Given the description of an element on the screen output the (x, y) to click on. 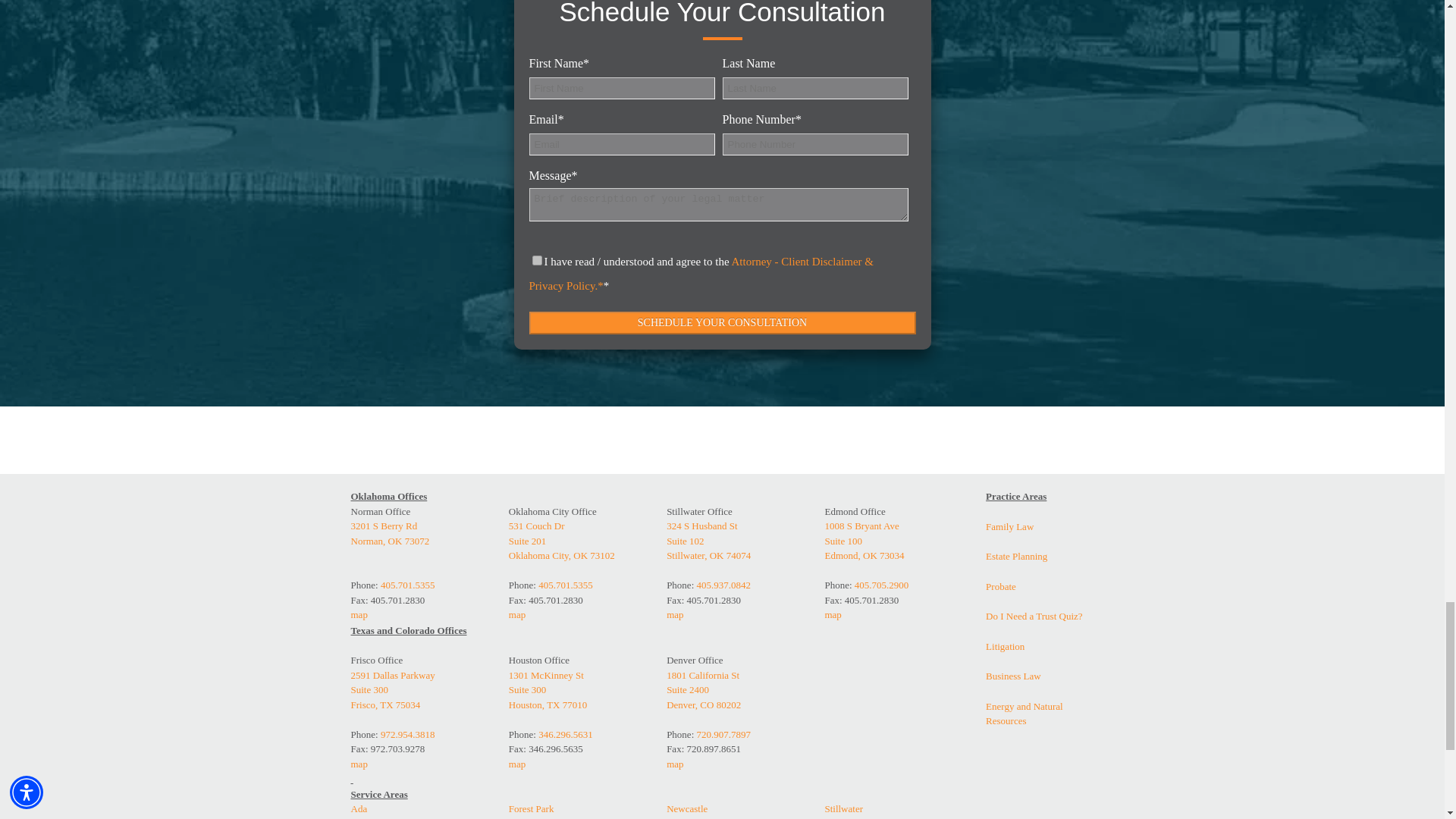
true (536, 259)
SCHEDULE YOUR CONSULTATION (722, 322)
